Given the description of an element on the screen output the (x, y) to click on. 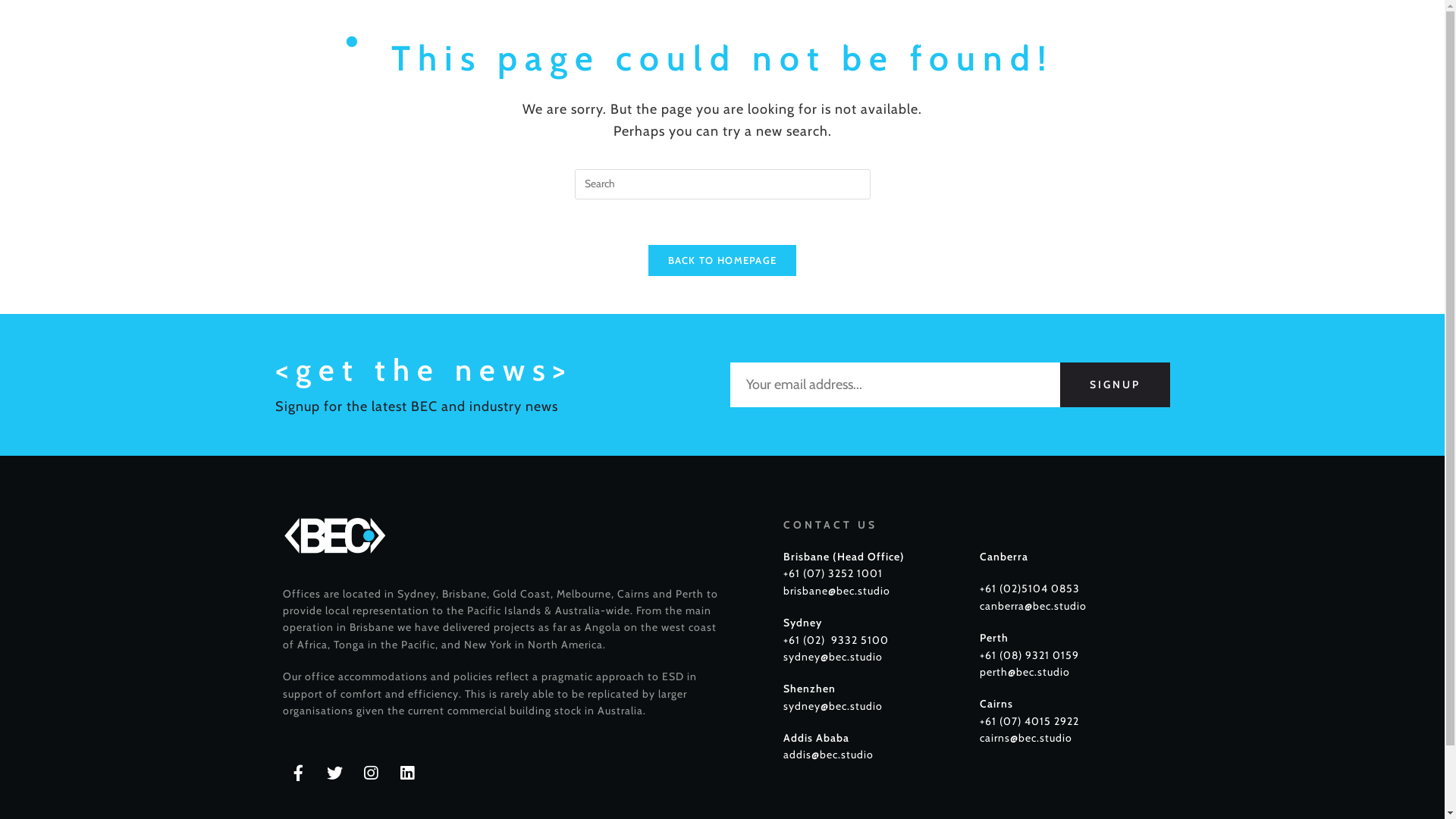
CONTACT Element type: text (1127, 41)
@bec.studio Element type: text (1055, 605)
PROJECTS Element type: text (958, 41)
SIGNUP Element type: text (1115, 384)
ABOUT Element type: text (727, 41)
sydney@bec.studio Element type: text (831, 656)
+61 (07) 3252 1001 Element type: text (831, 573)
NEWS Element type: text (1044, 41)
perth@bec.studio Element type: text (1024, 671)
BACK TO HOMEPAGE Element type: text (722, 260)
brisbane@bec.studio Element type: text (835, 590)
HOME Element type: text (644, 41)
+61 (08) 9321 0159 Element type: text (1029, 655)
cairns@bec.studio Element type: text (1025, 737)
+61 (02) Element type: text (1000, 588)
DISCIPLINES Element type: text (840, 41)
sydney@bec.studio Element type: text (831, 705)
